Given the description of an element on the screen output the (x, y) to click on. 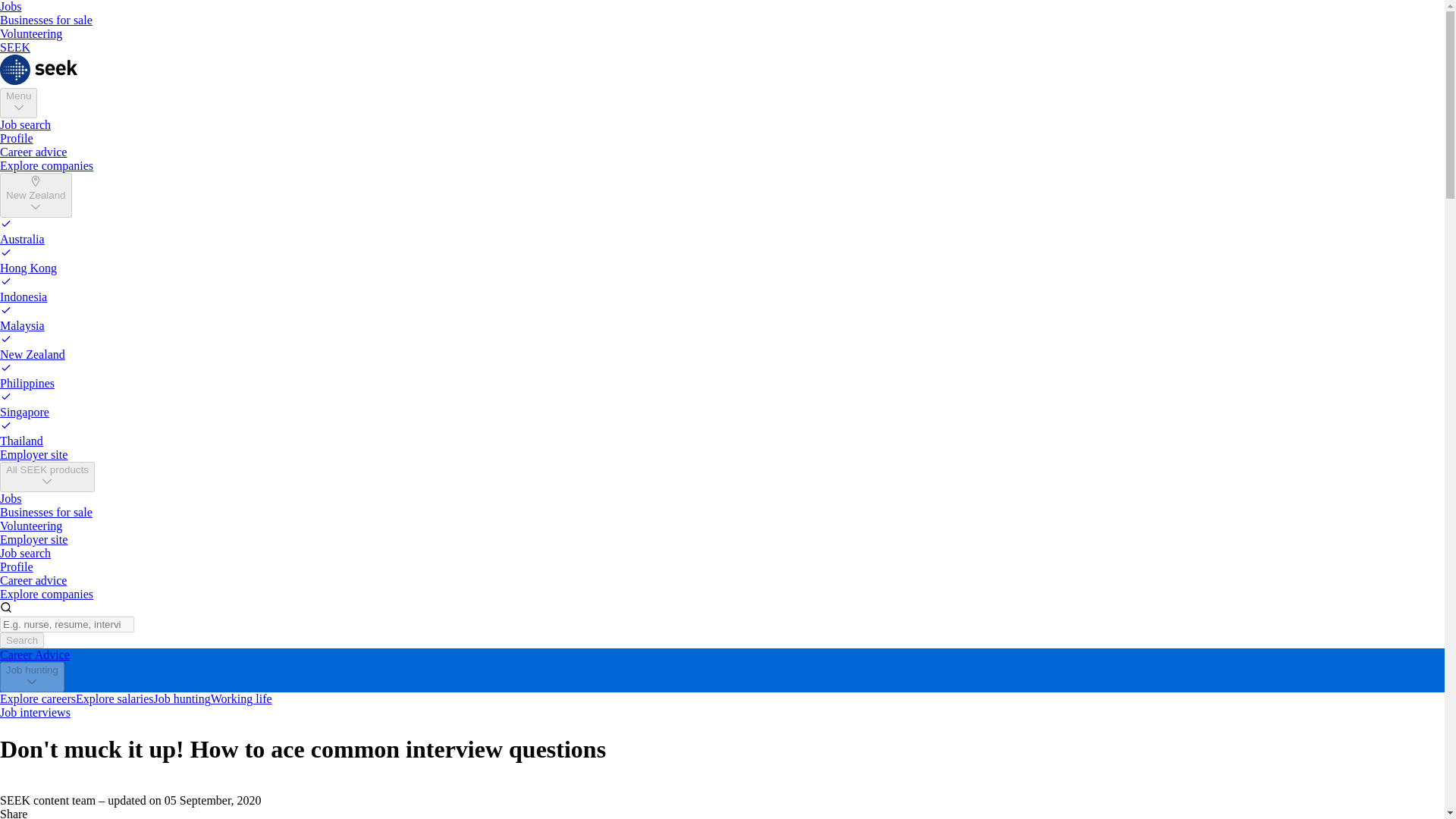
Job hunting (182, 698)
Career advice (33, 151)
Working life (241, 698)
Job search (25, 124)
Employer site (33, 539)
Jobs (10, 6)
Volunteering (31, 33)
Job interviews (34, 712)
Explore careers (37, 698)
Businesses for sale (46, 19)
